Given the description of an element on the screen output the (x, y) to click on. 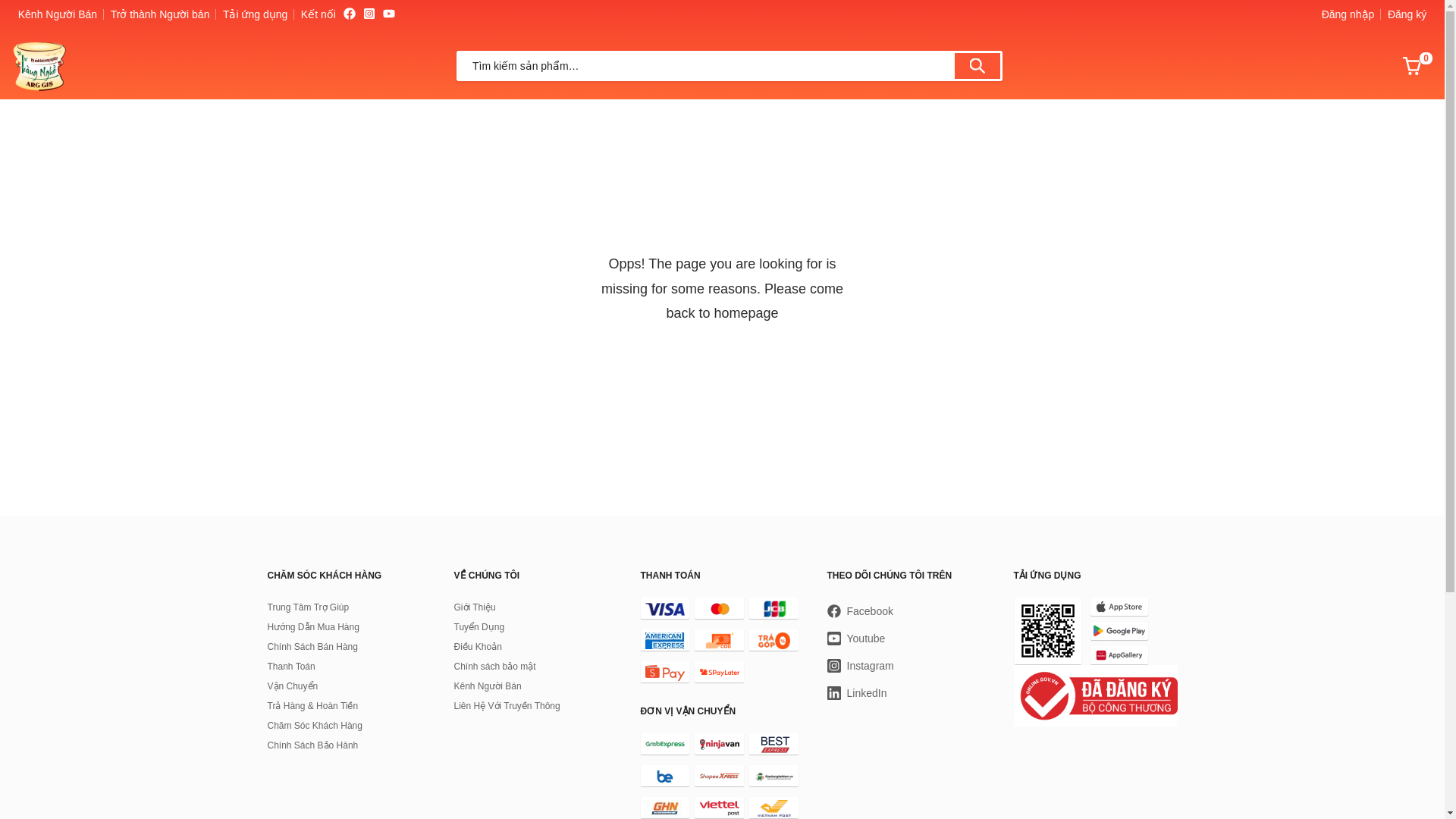
Search (983, 65)
0 (1412, 66)
